Given the description of an element on the screen output the (x, y) to click on. 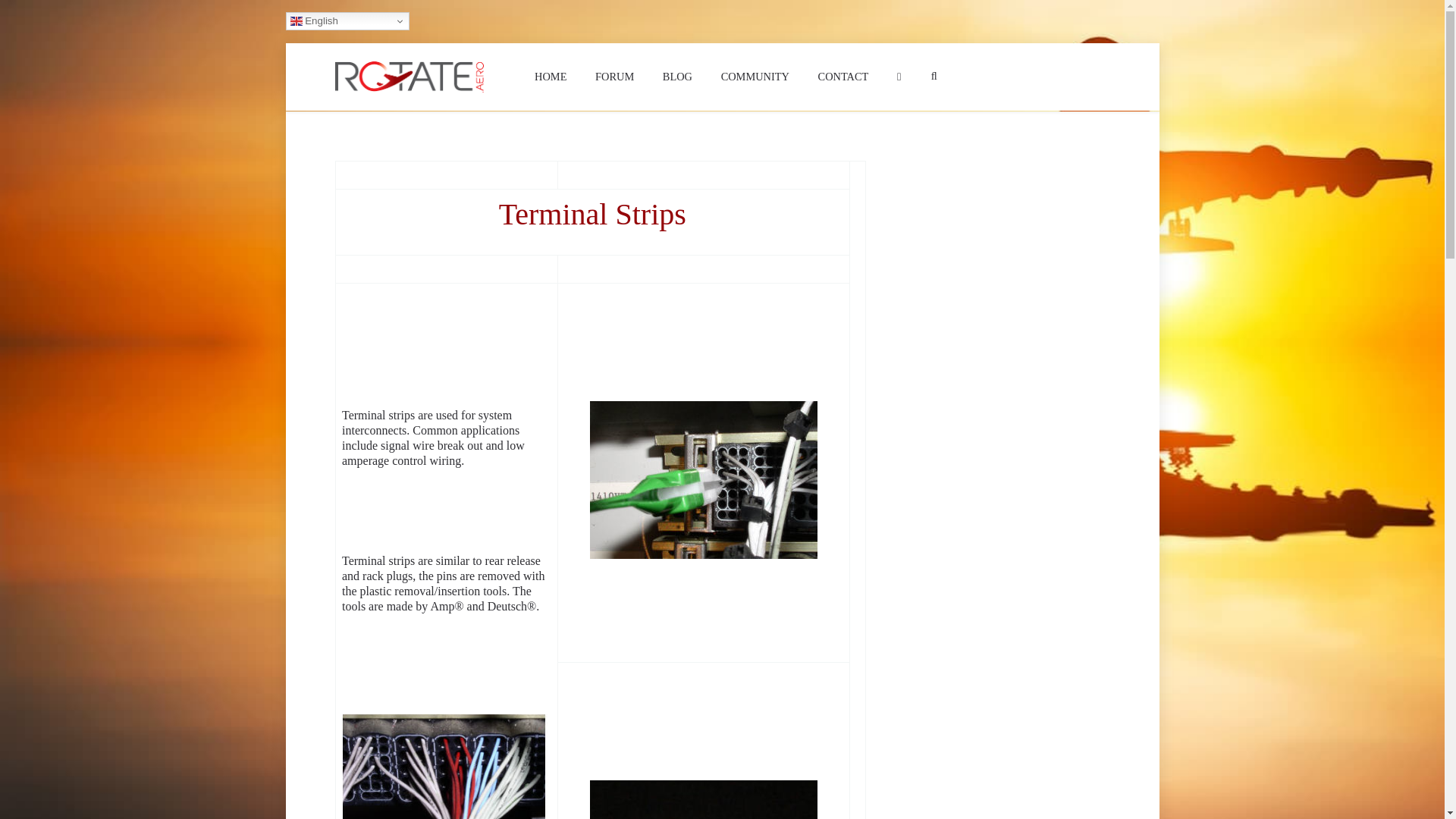
English (347, 21)
